Given the description of an element on the screen output the (x, y) to click on. 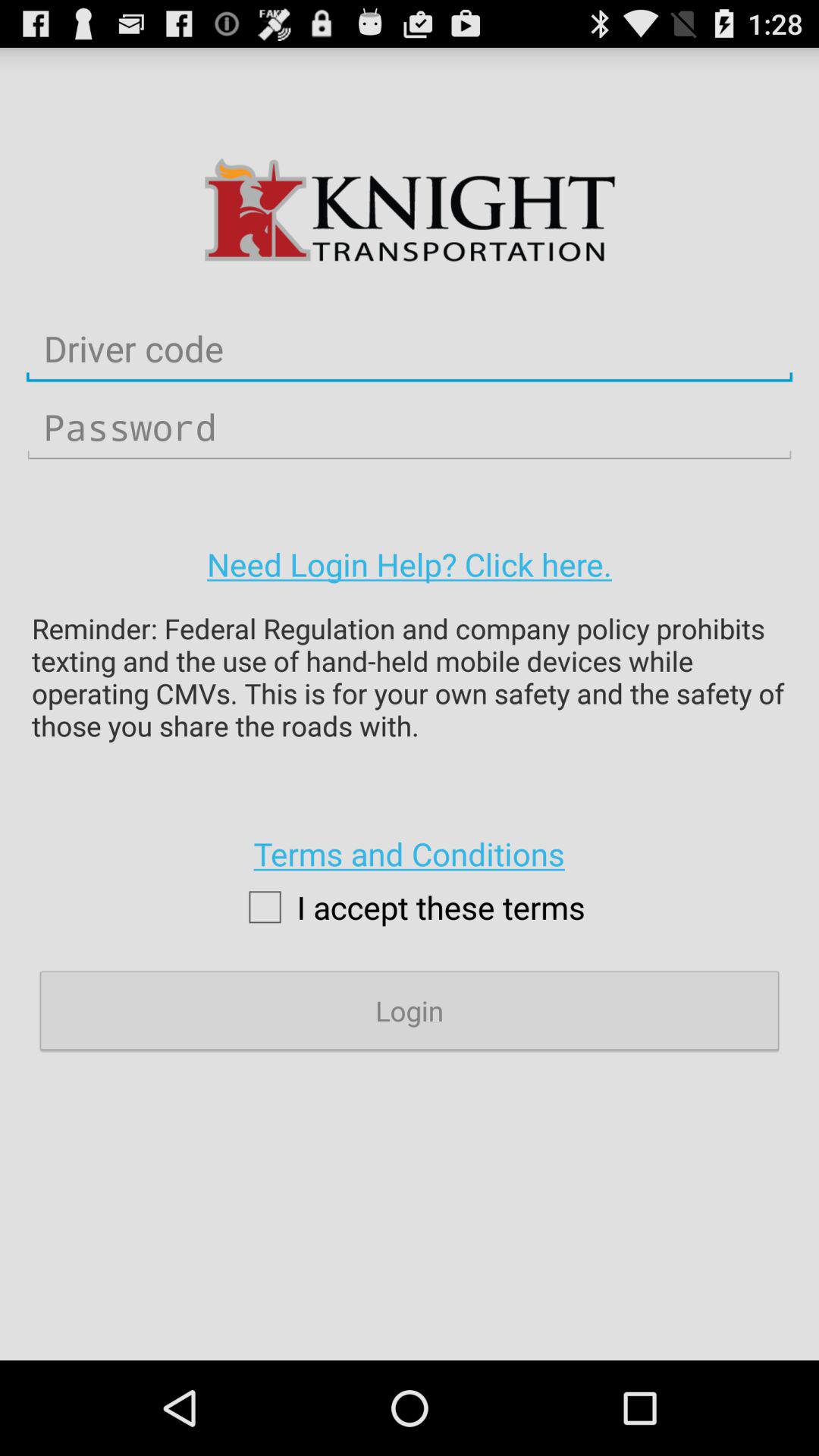
enter password (409, 427)
